Given the description of an element on the screen output the (x, y) to click on. 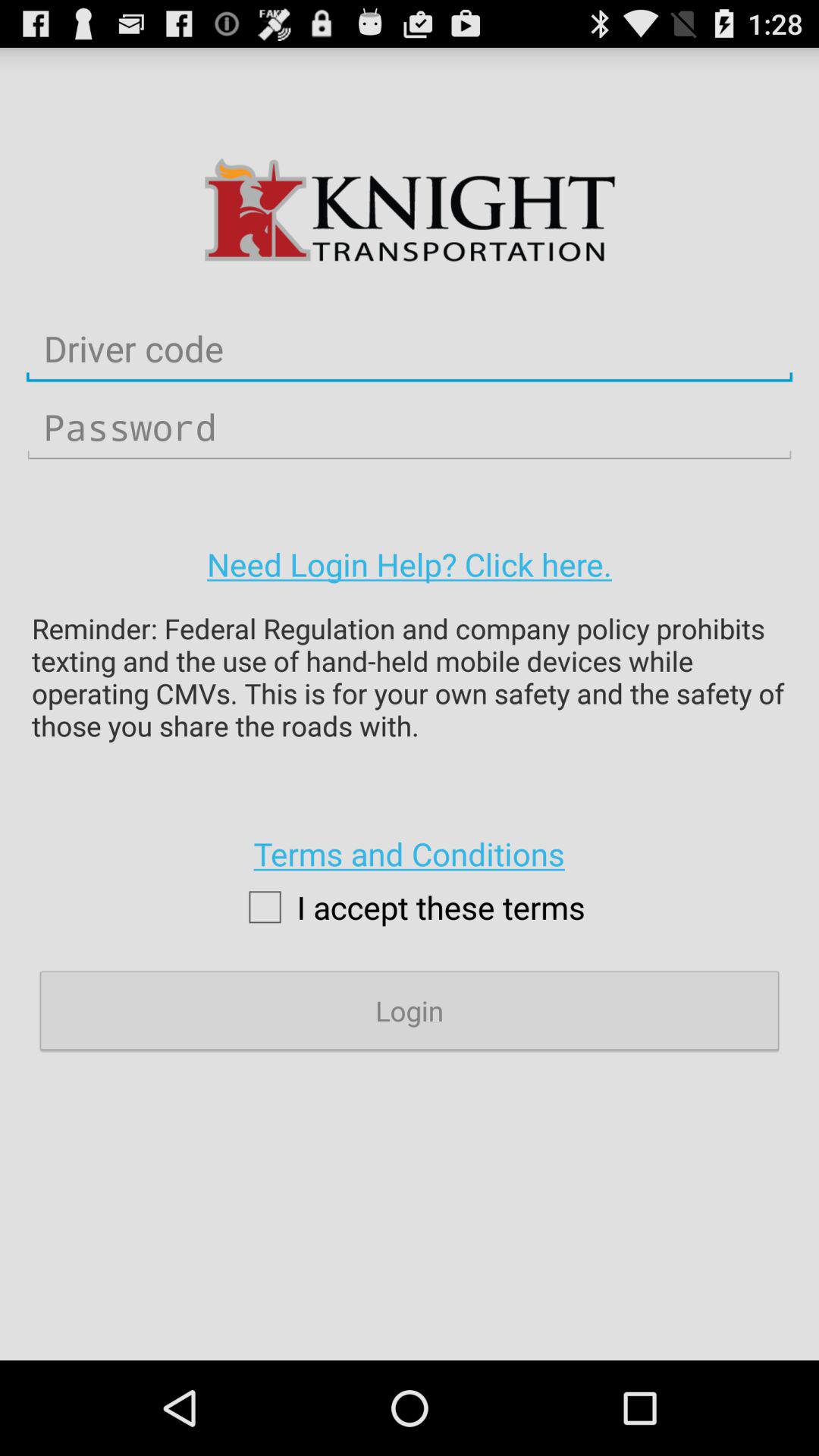
enter password (409, 427)
